Given the description of an element on the screen output the (x, y) to click on. 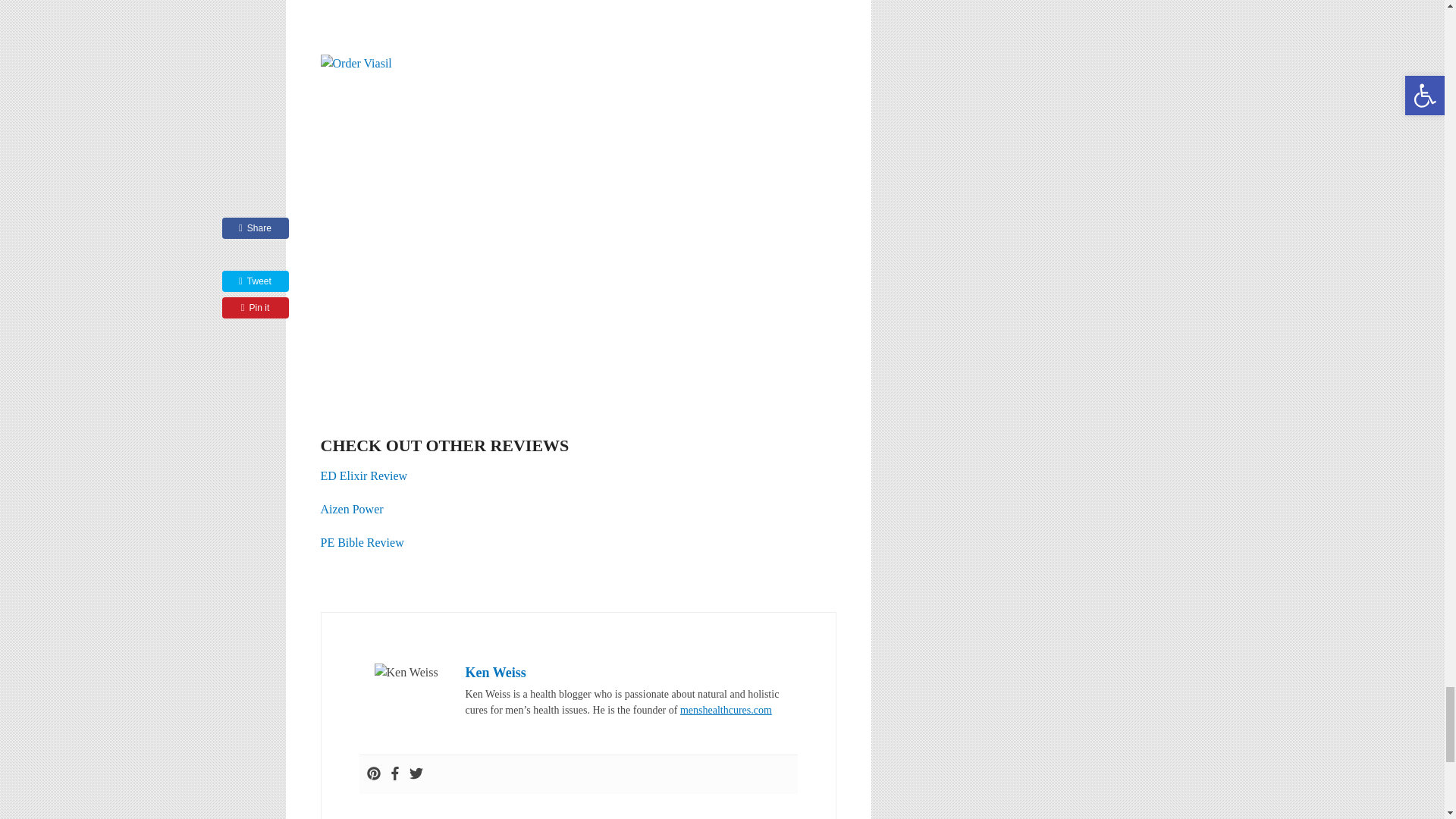
Facebook (394, 774)
Twitter (416, 774)
Pinterest (373, 774)
